Given the description of an element on the screen output the (x, y) to click on. 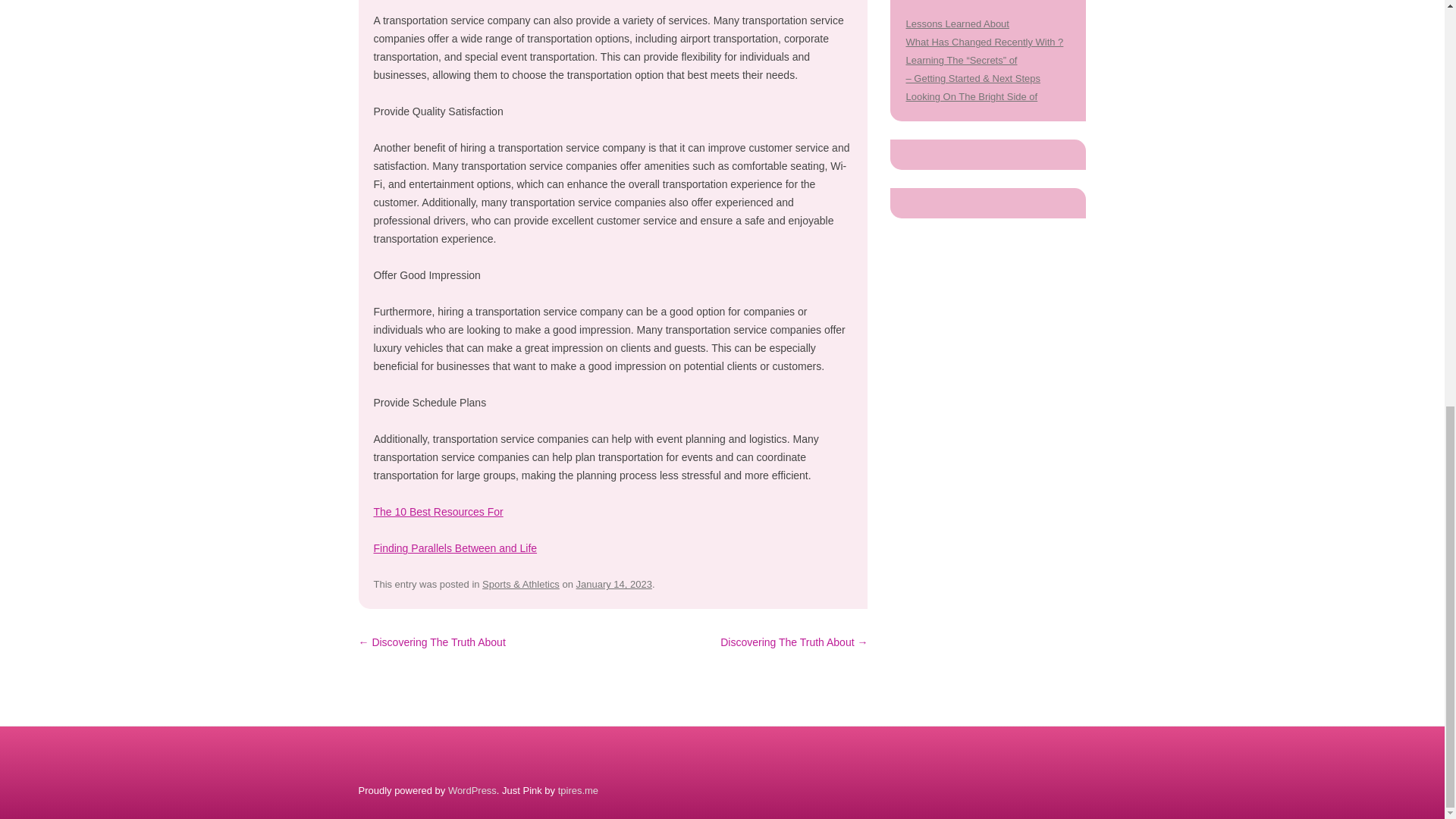
Finding Parallels Between and Life (454, 571)
Semantic Personal Publishing Platform (472, 813)
What Has Changed Recently With ? (983, 28)
Lessons Learned About (957, 9)
8:00 pm (614, 606)
The 10 Best Resources For (437, 534)
January 14, 2023 (614, 606)
